Given the description of an element on the screen output the (x, y) to click on. 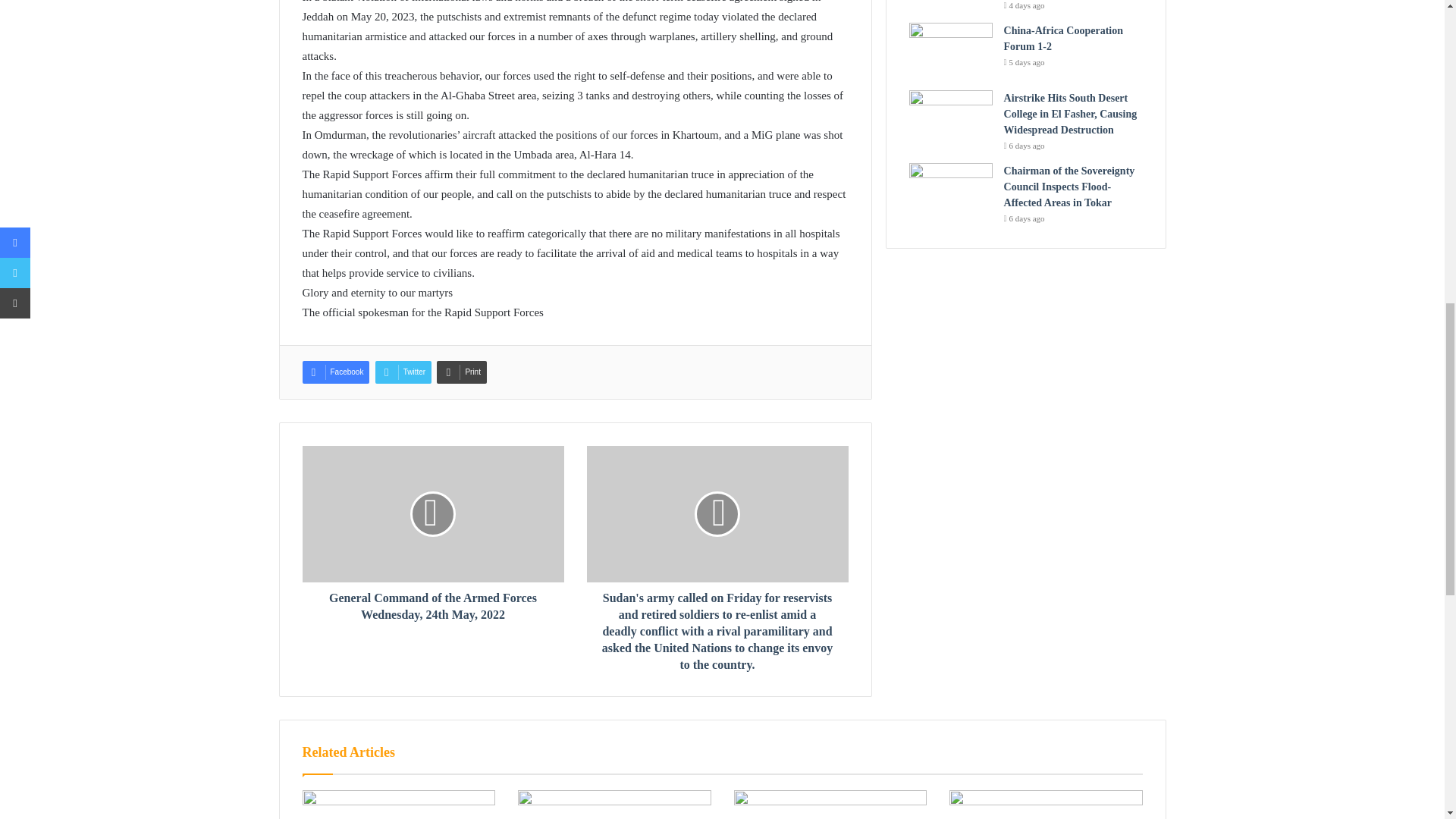
Twitter (402, 372)
Twitter (402, 372)
Print (461, 372)
Print (461, 372)
Facebook (335, 372)
Facebook (335, 372)
